Given the description of an element on the screen output the (x, y) to click on. 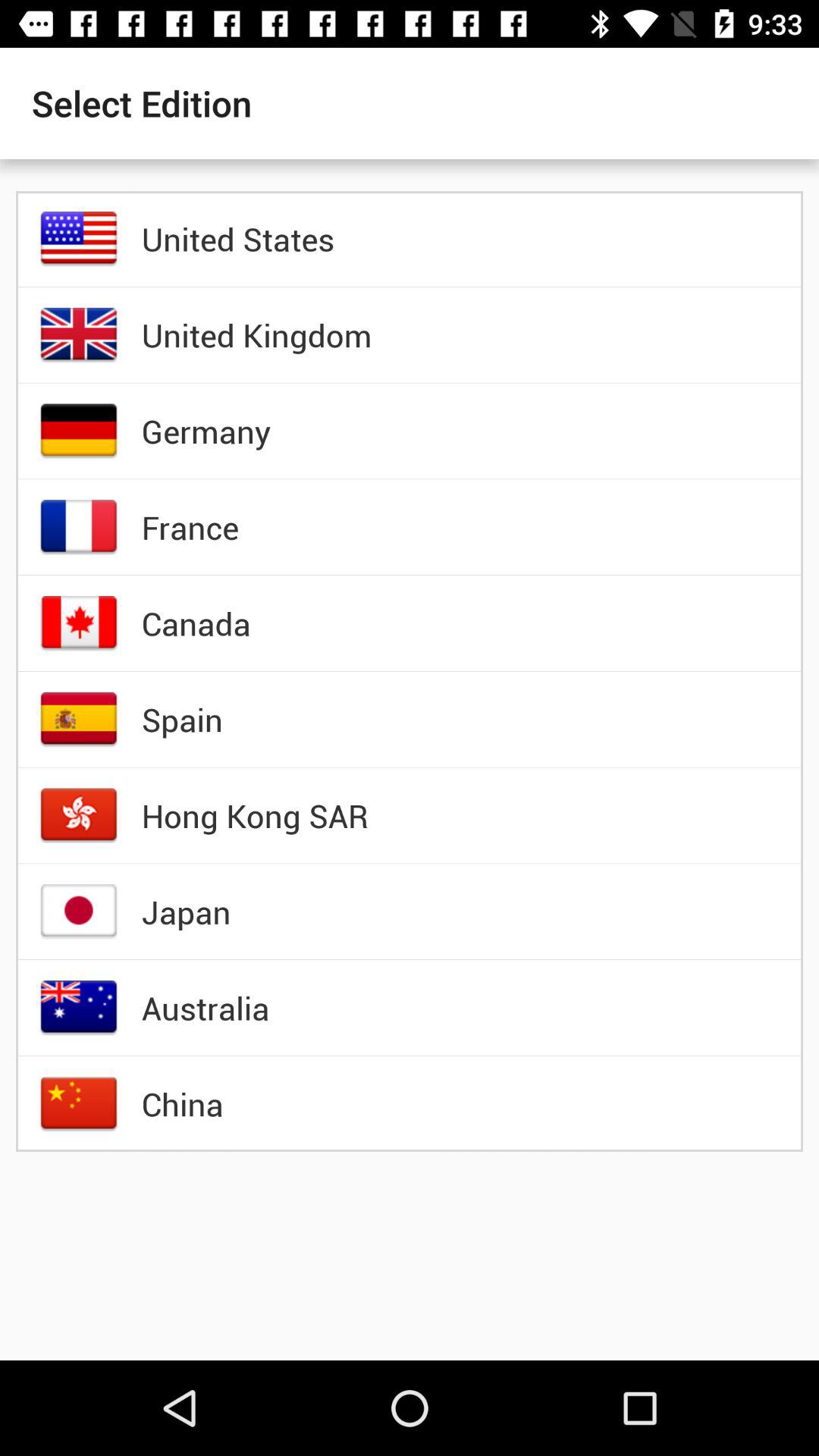
select the item above spain item (195, 623)
